Given the description of an element on the screen output the (x, y) to click on. 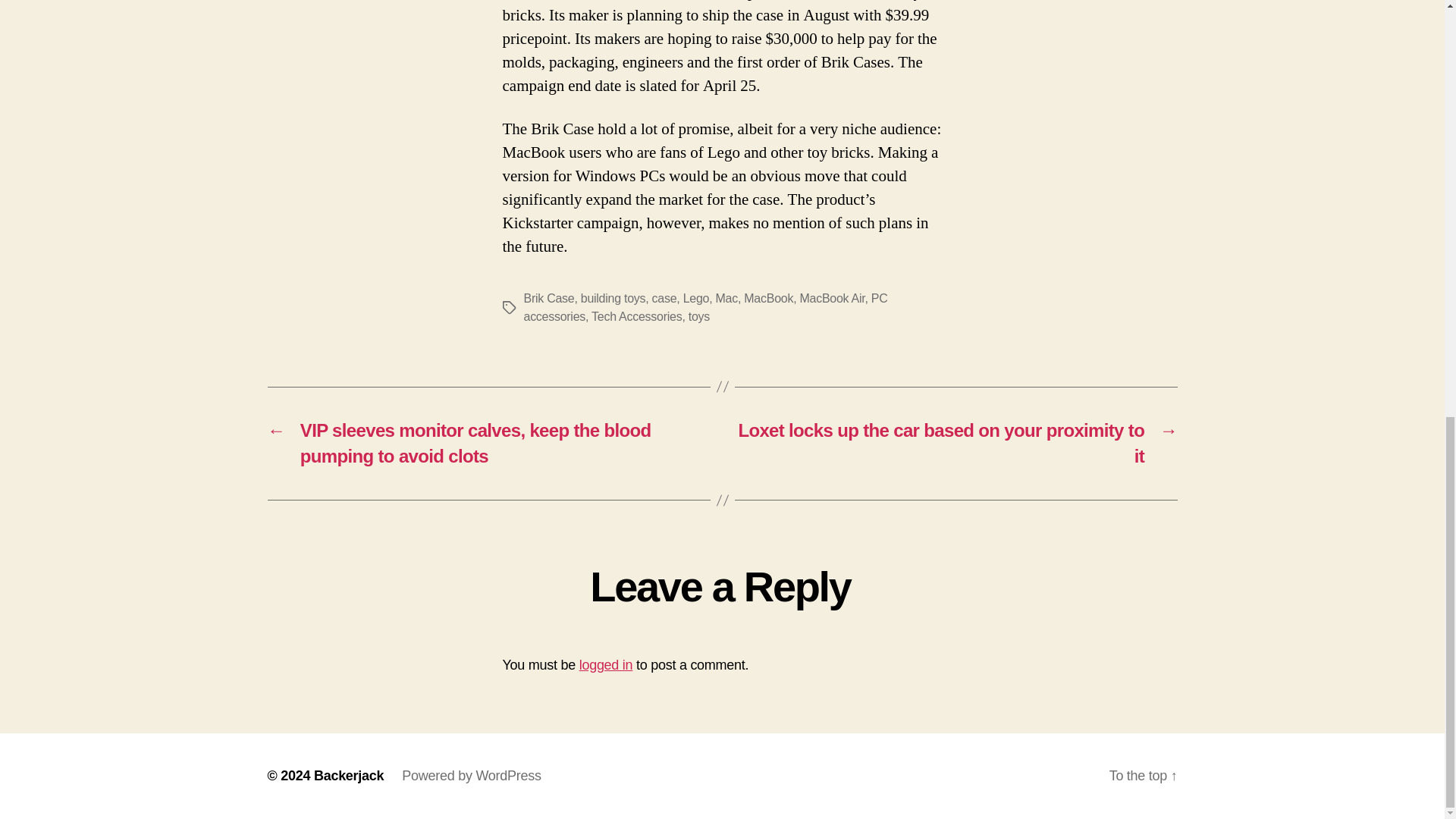
MacBook (768, 297)
case (664, 297)
Tech Accessories (636, 316)
toys (699, 316)
Backerjack (349, 775)
Mac (727, 297)
building toys (612, 297)
Brik Case (547, 297)
Lego (696, 297)
PC accessories (704, 306)
logged in (606, 664)
Powered by WordPress (470, 775)
MacBook Air (831, 297)
